Given the description of an element on the screen output the (x, y) to click on. 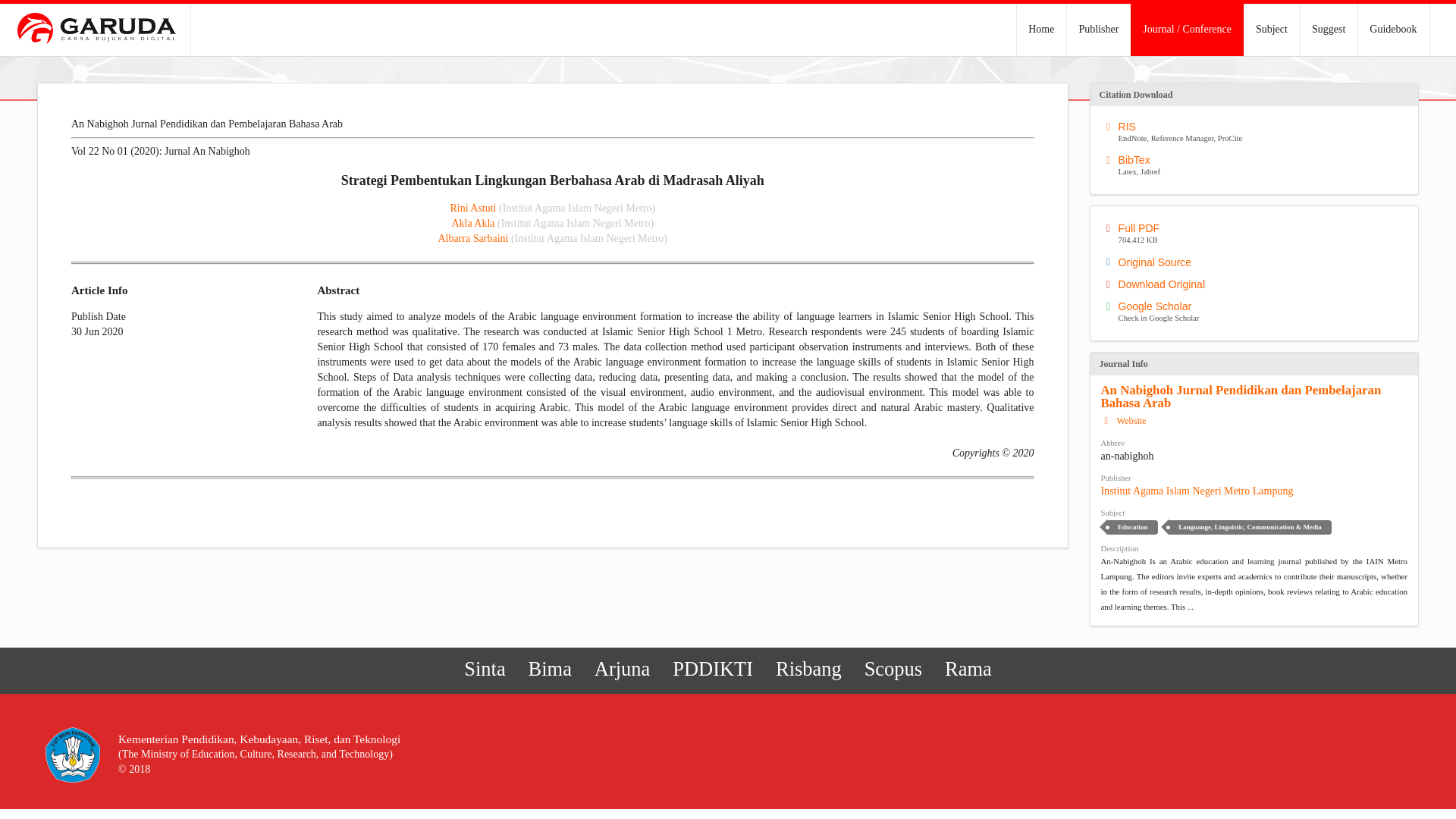
Arjuna (1257, 312)
Albarra Sarbaini (623, 668)
An Nabighoh Jurnal Pendidikan dan Pembelajaran Bahasa Arab (473, 238)
Scopus (1242, 396)
Akla Akla (892, 668)
Rini Astuti (473, 223)
Guidebook (472, 207)
Suggest (1392, 30)
Download Original (1257, 165)
Education (1328, 30)
Original Source (1257, 283)
Akreditasi Jurnal Nasional (1131, 527)
